Given the description of an element on the screen output the (x, y) to click on. 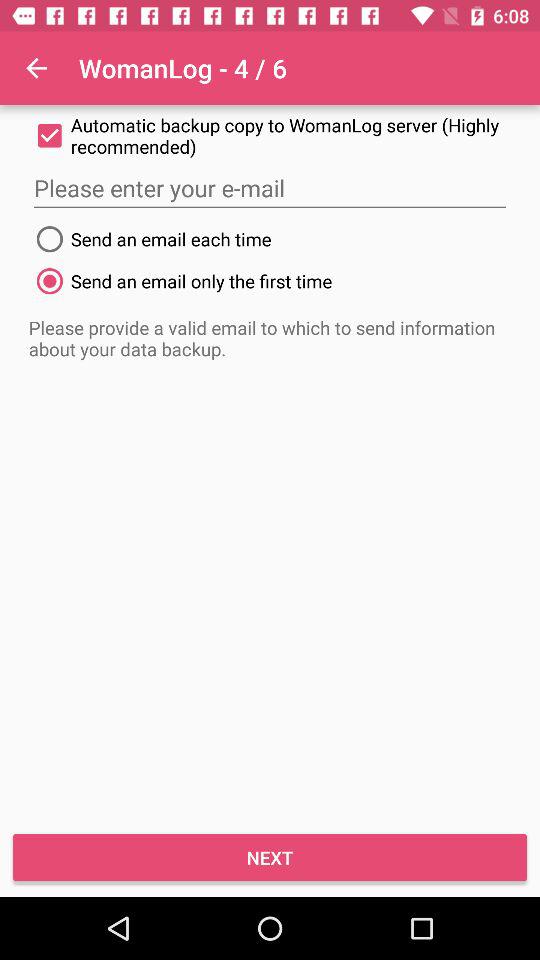
choose the icon above the send an email (269, 188)
